Given the description of an element on the screen output the (x, y) to click on. 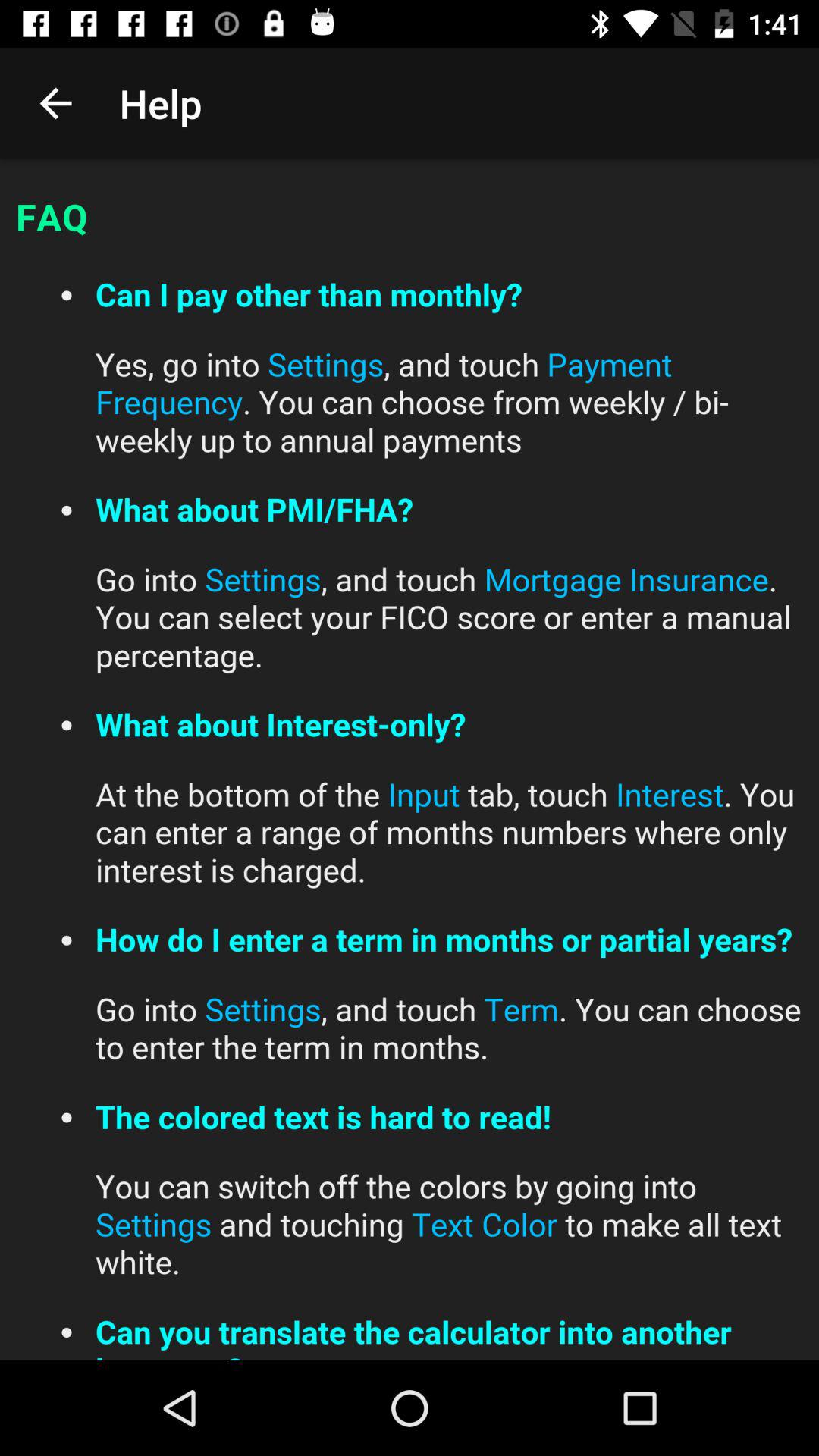
read faqs (409, 759)
